Given the description of an element on the screen output the (x, y) to click on. 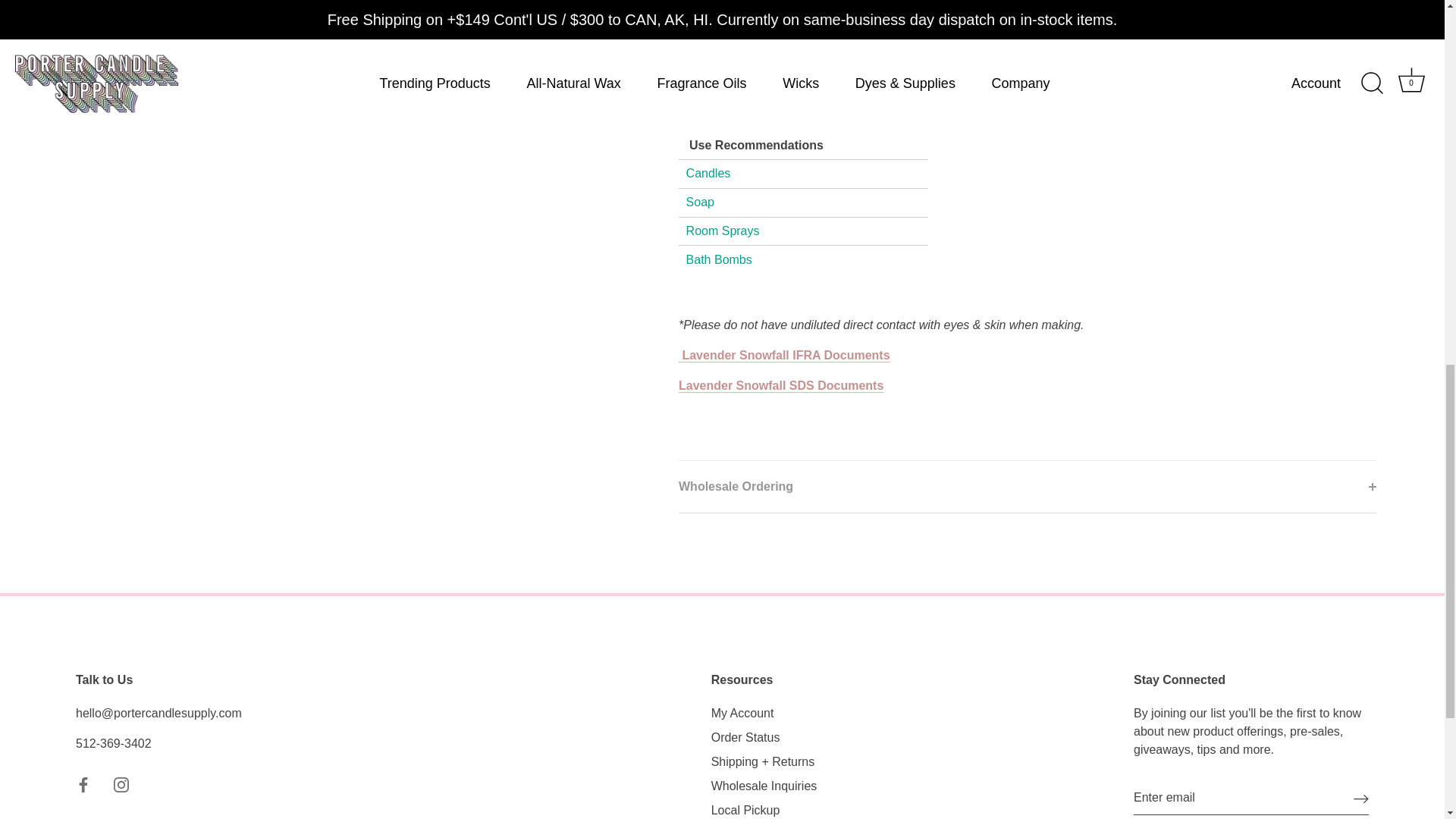
Right arrow long (1361, 798)
Lavender Snowfall IFRA Documents (783, 355)
Instagram (121, 784)
Lavender Snowfall SDS Documents (780, 386)
